Given the description of an element on the screen output the (x, y) to click on. 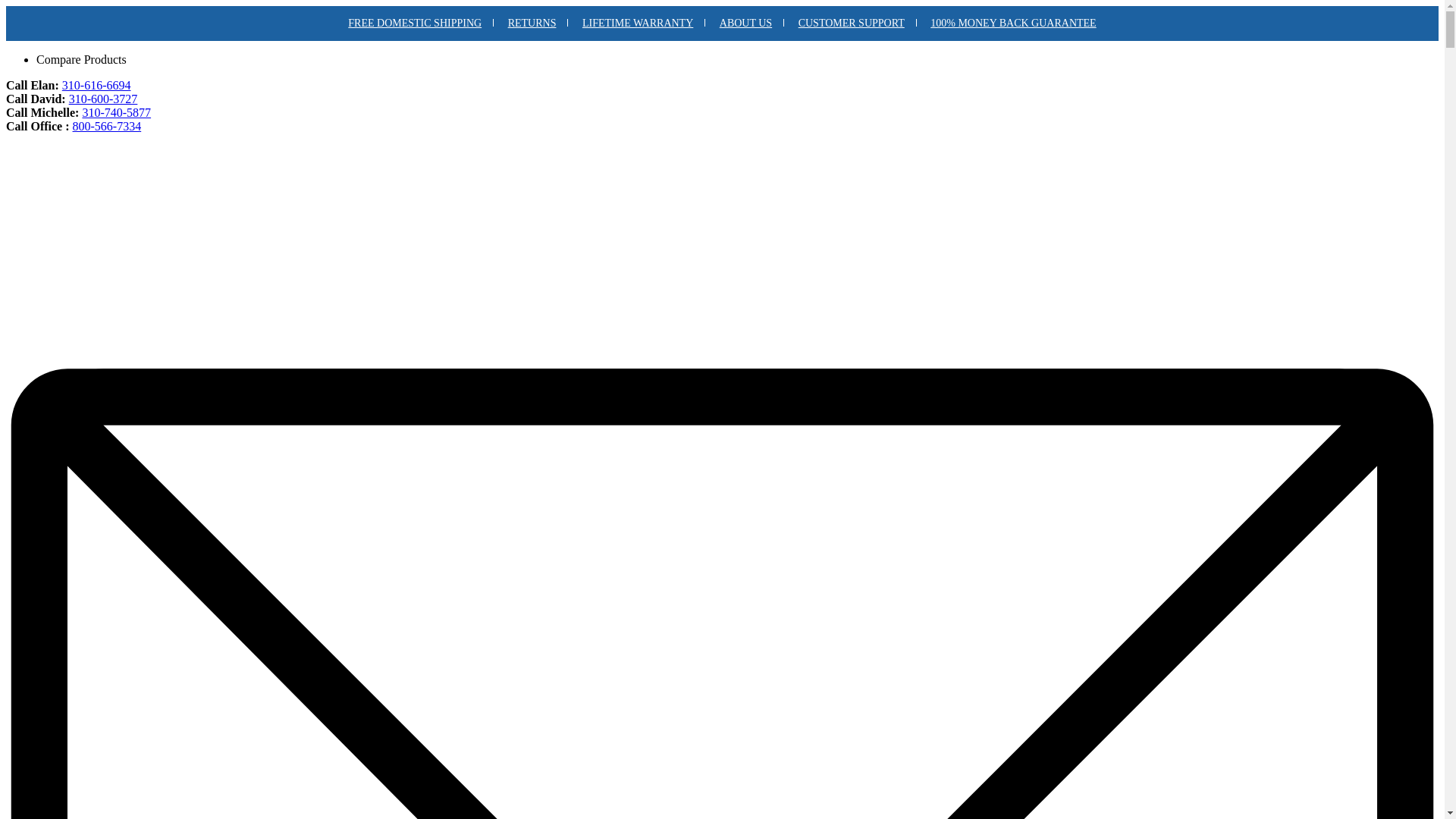
310-740-5877 Element type: text (115, 112)
LIFETIME WARRANTY Element type: text (638, 23)
CUSTOMER SUPPORT Element type: text (851, 23)
100% MONEY BACK GUARANTEE Element type: text (1013, 23)
310-616-6694 Element type: text (96, 84)
800-566-7334 Element type: text (106, 125)
FREE DOMESTIC SHIPPING Element type: text (414, 23)
ABOUT US Element type: text (746, 23)
RETURNS Element type: text (532, 23)
Compare Products Element type: text (81, 59)
310-600-3727 Element type: text (103, 98)
